Given the description of an element on the screen output the (x, y) to click on. 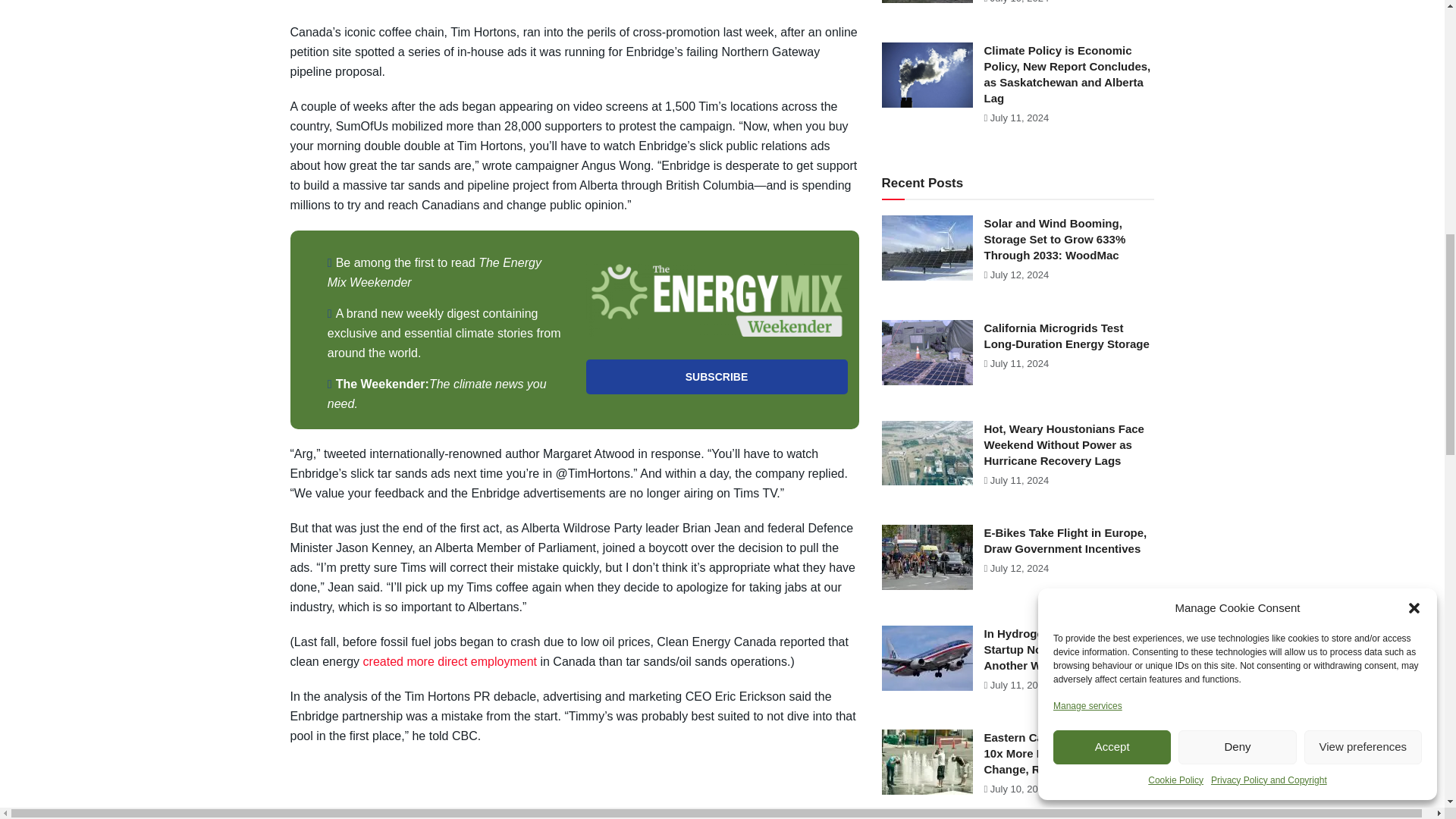
Subscribe (716, 376)
TEM-WeekenderLight (716, 300)
